Given the description of an element on the screen output the (x, y) to click on. 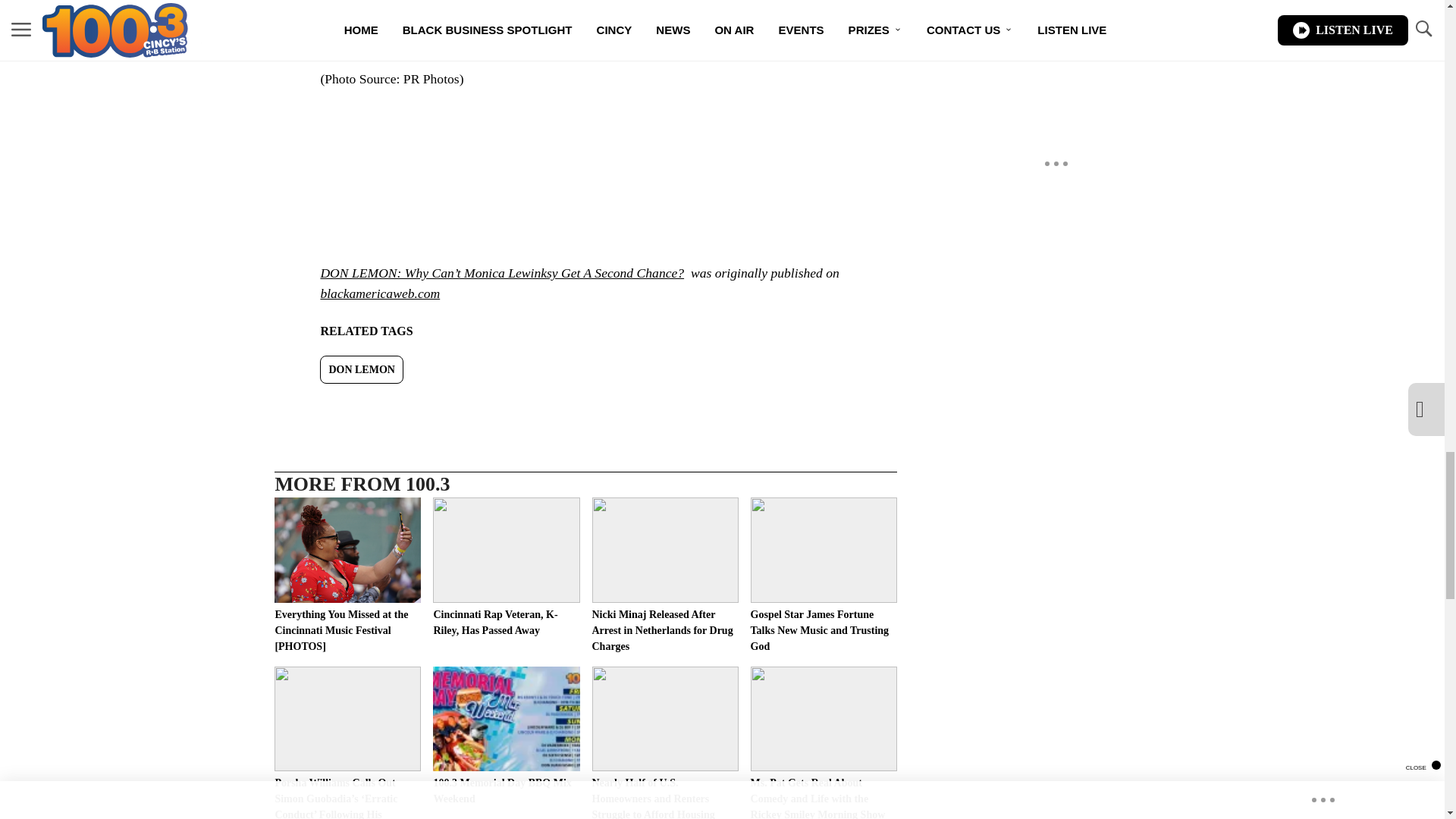
Facebook (524, 38)
DON LEMON (361, 369)
Twitter (652, 38)
blackamericaweb.com (379, 293)
